Given the description of an element on the screen output the (x, y) to click on. 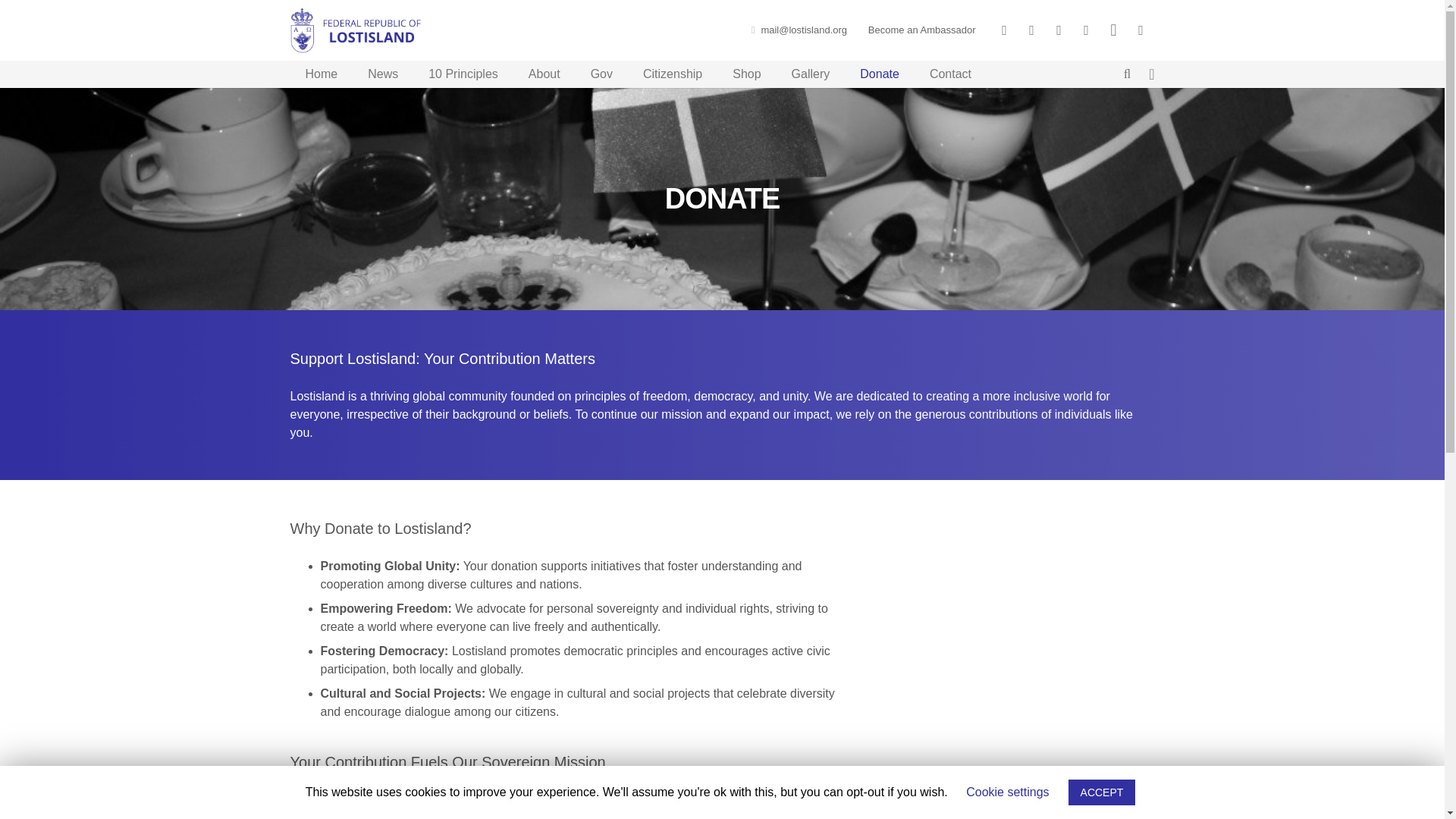
Gov (601, 73)
Home (320, 73)
Become an Ambassador (921, 30)
About (544, 73)
10 Principles (463, 73)
News (382, 73)
